Given the description of an element on the screen output the (x, y) to click on. 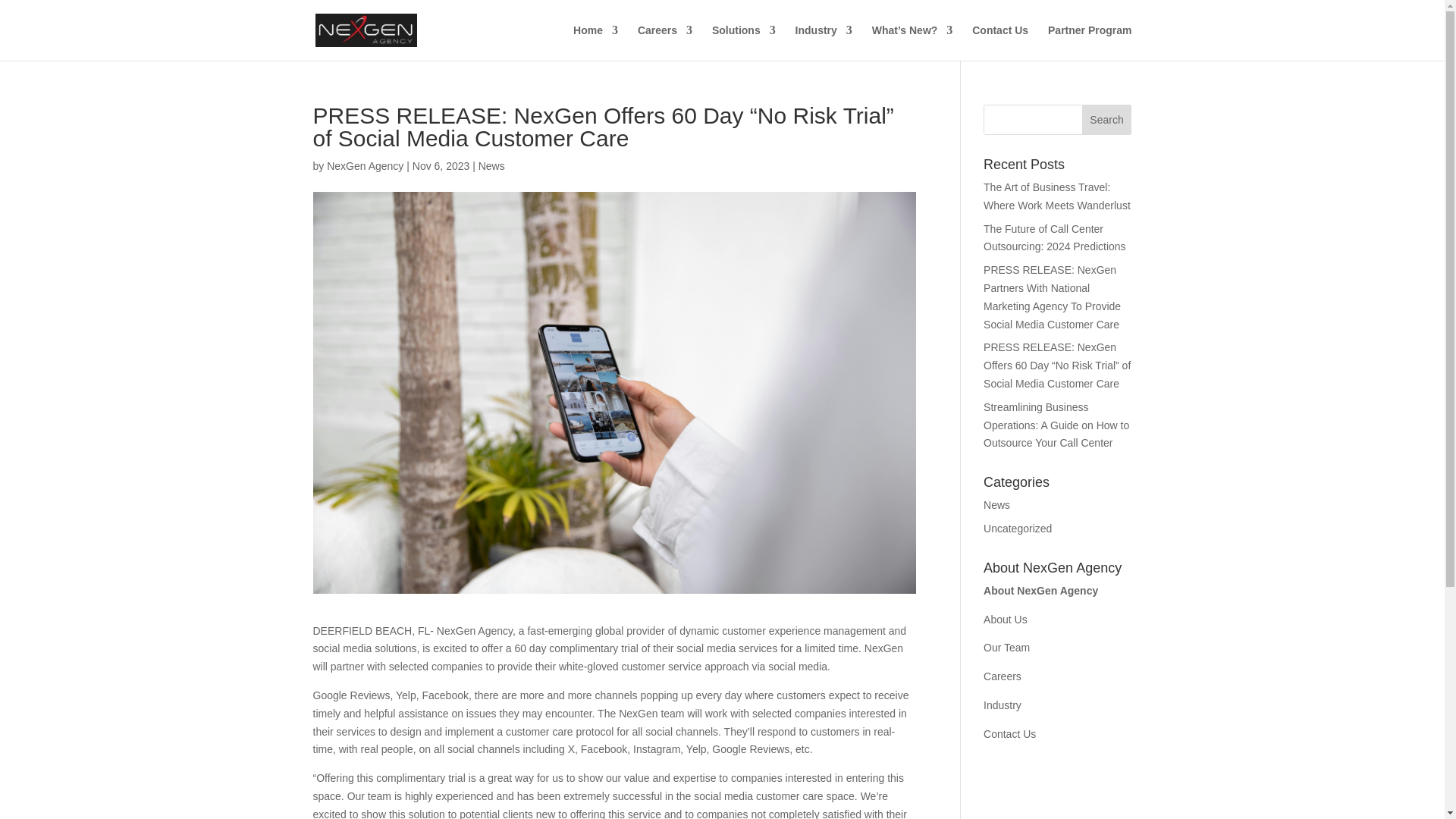
Posts by NexGen Agency (364, 165)
Search (1106, 119)
Contact Us (999, 42)
Partner Program (1089, 42)
Careers (665, 42)
Home (595, 42)
Solutions (743, 42)
Industry (822, 42)
